Given the description of an element on the screen output the (x, y) to click on. 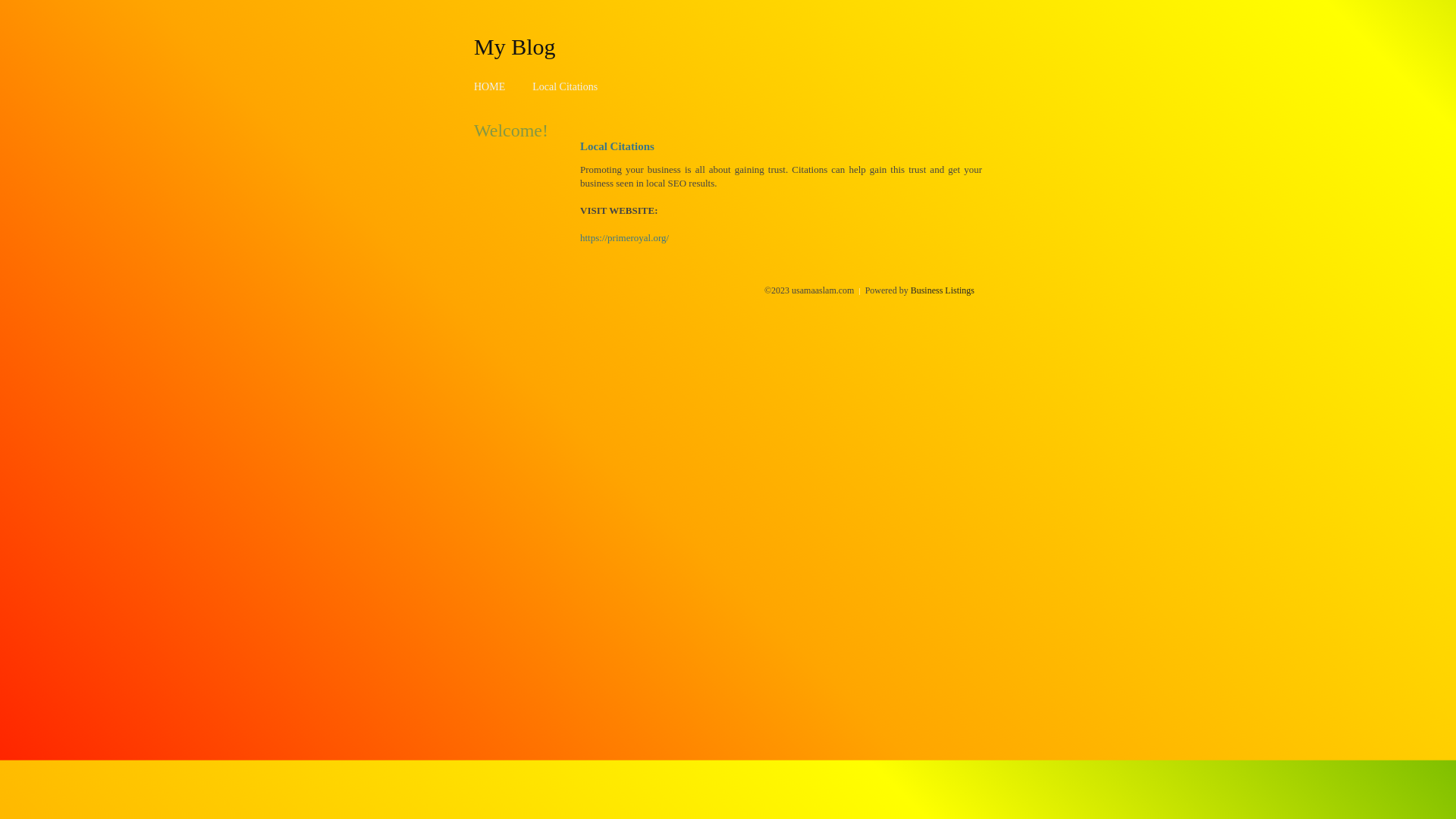
My Blog Element type: text (514, 46)
HOME Element type: text (489, 86)
Local Citations Element type: text (564, 86)
Business Listings Element type: text (942, 290)
https://primeroyal.org/ Element type: text (624, 237)
